Given the description of an element on the screen output the (x, y) to click on. 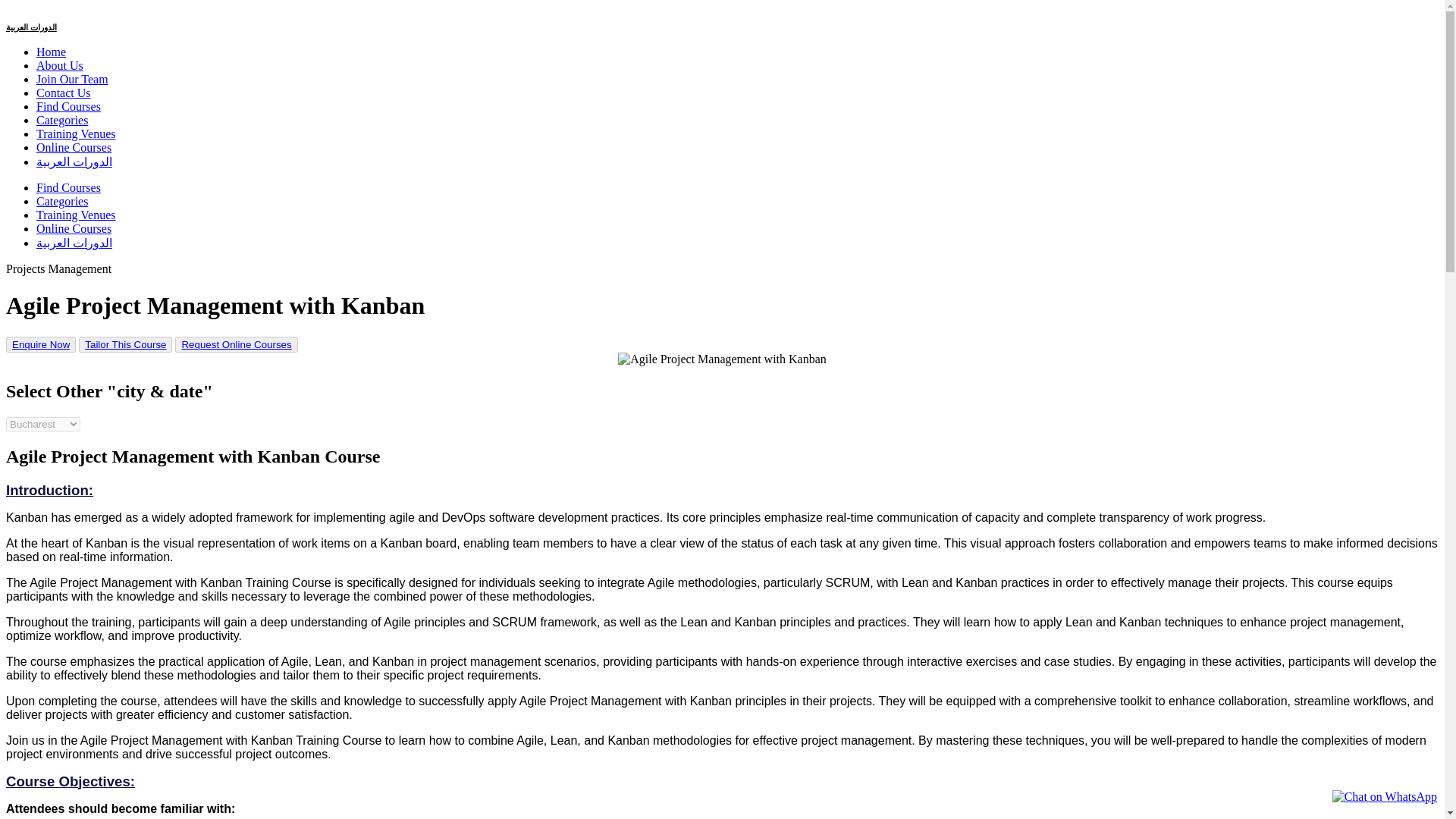
Tailor This Course (124, 344)
Enquire Now (40, 344)
Request Online Courses (235, 344)
Find Courses (68, 187)
About Us (59, 65)
Request Online Courses (235, 344)
Join Our Team (71, 78)
Find Courses (68, 106)
Tailor This Course (124, 344)
Enquire Now (40, 344)
Categories (61, 119)
Training Venues (75, 214)
Contact Us (63, 92)
Home (50, 51)
Online Courses (74, 146)
